Given the description of an element on the screen output the (x, y) to click on. 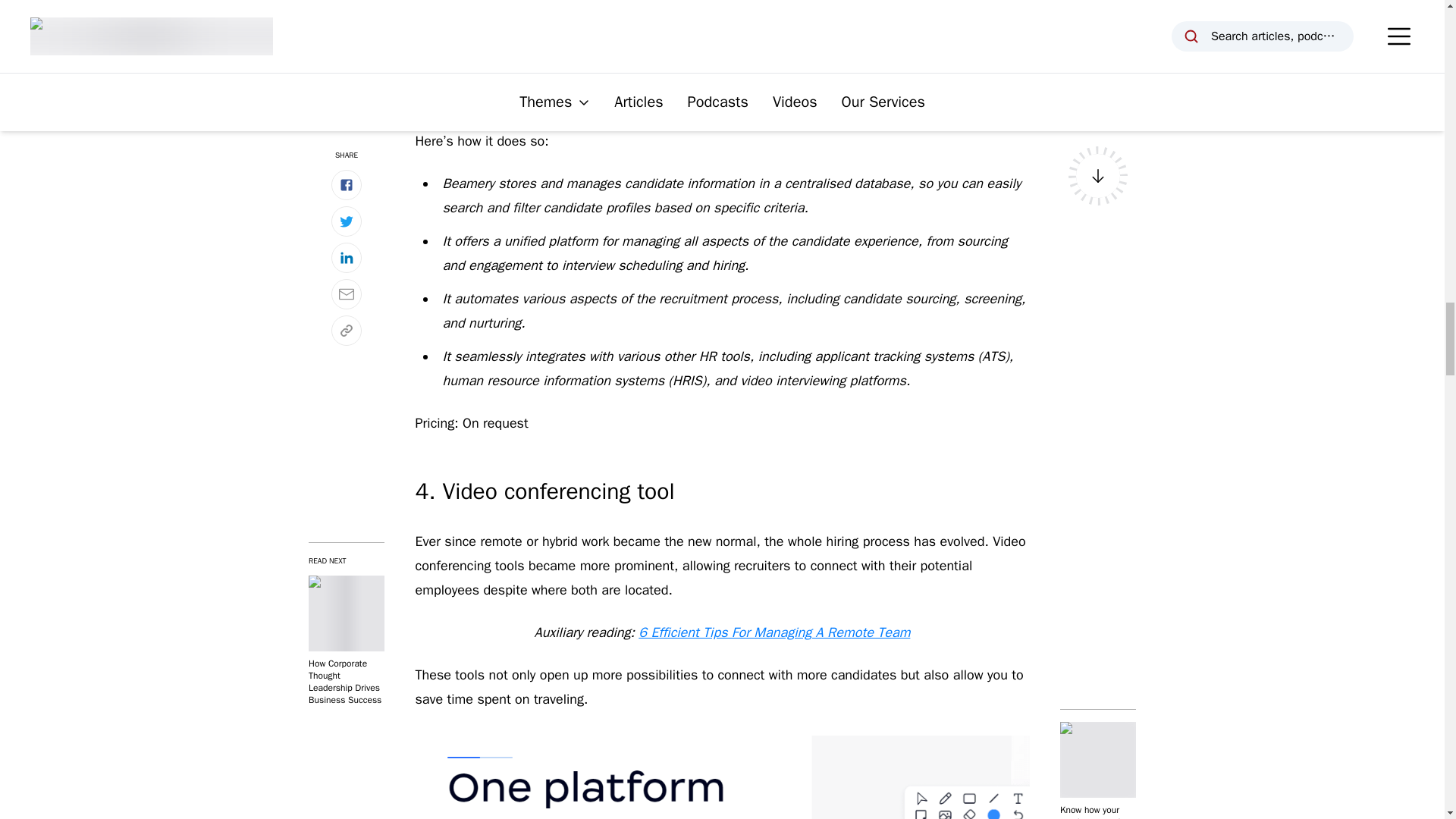
6 Efficient Tips For Managing A Remote Team (774, 632)
